Given the description of an element on the screen output the (x, y) to click on. 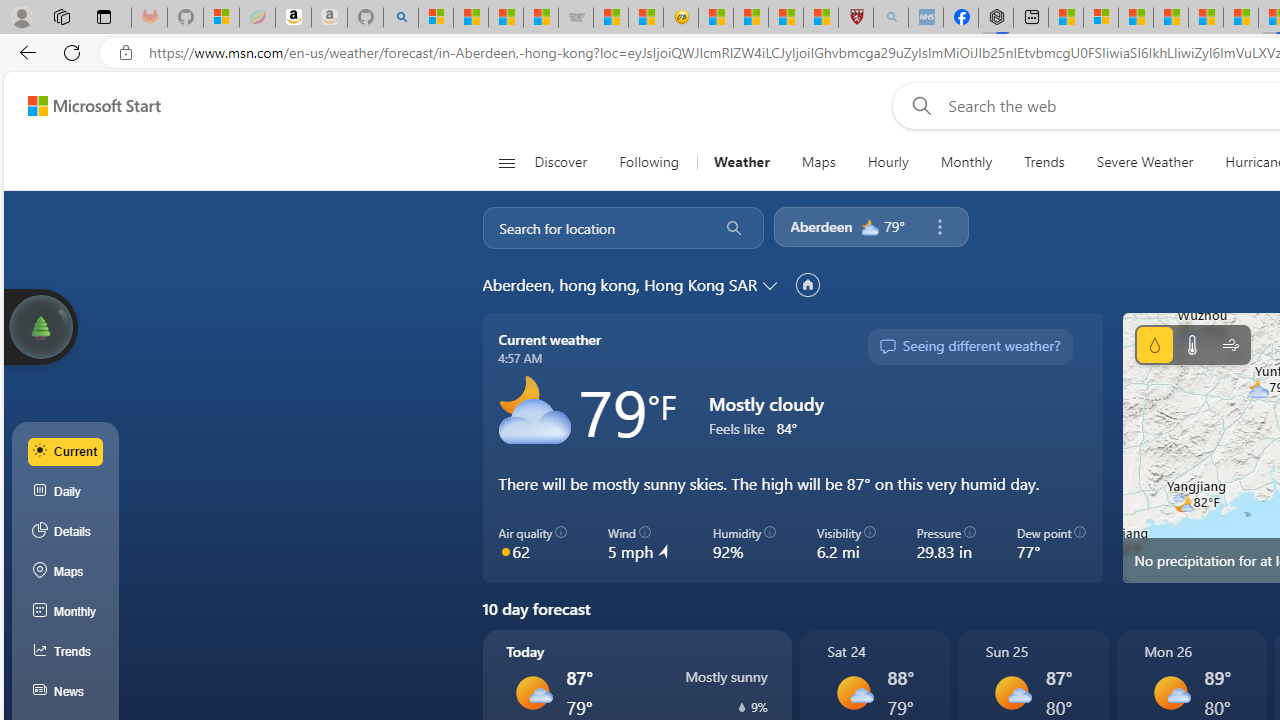
Humidity 92% (743, 543)
Change location (772, 285)
Monthly (65, 611)
Skip to footer (82, 105)
Trends (1044, 162)
Severe Weather (1144, 162)
Mostly sunny (1169, 692)
Air quality 62 (532, 543)
Weather (741, 162)
Seeing different weather? (969, 347)
